Given the description of an element on the screen output the (x, y) to click on. 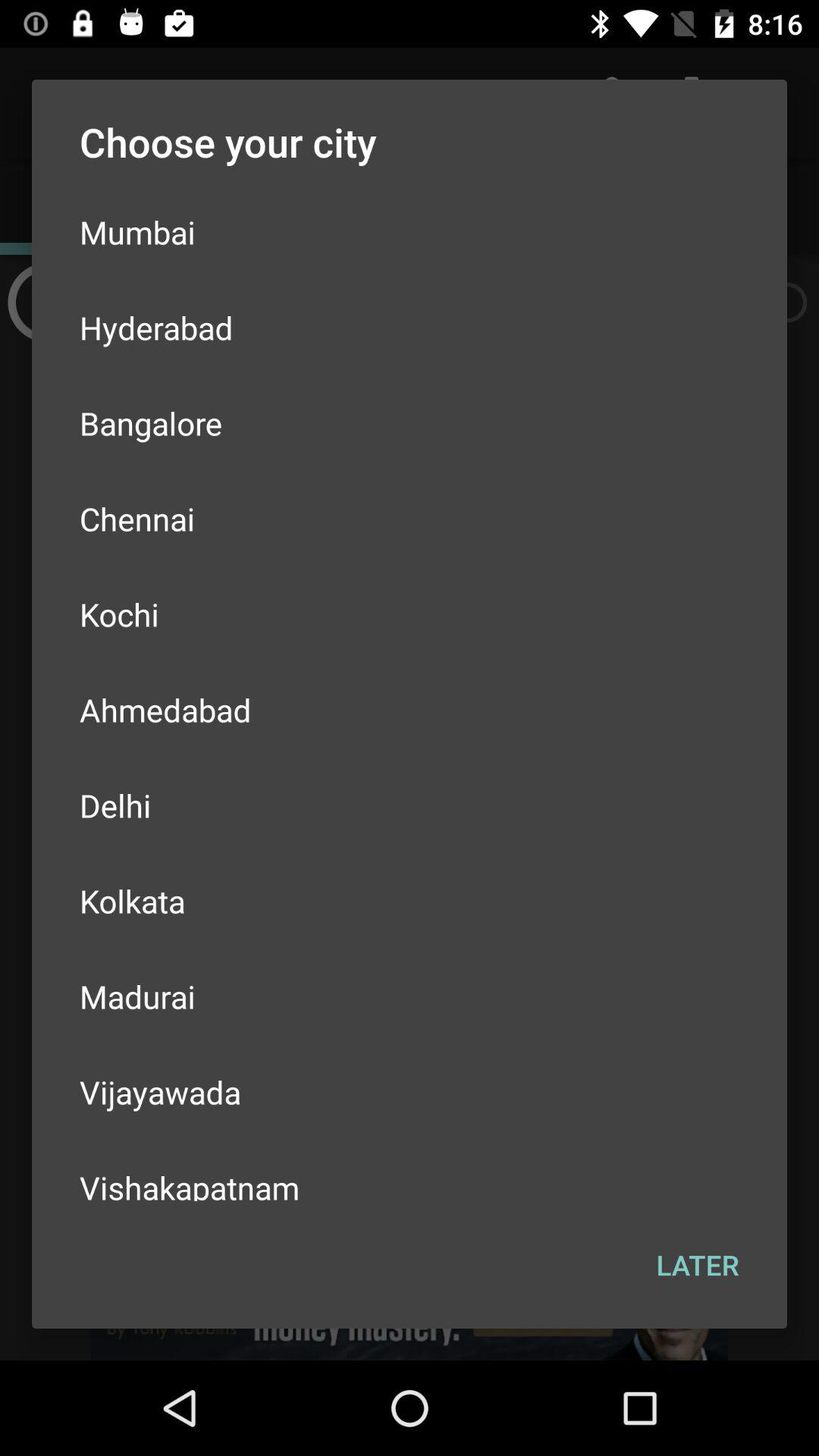
flip to hyderabad (409, 327)
